Given the description of an element on the screen output the (x, y) to click on. 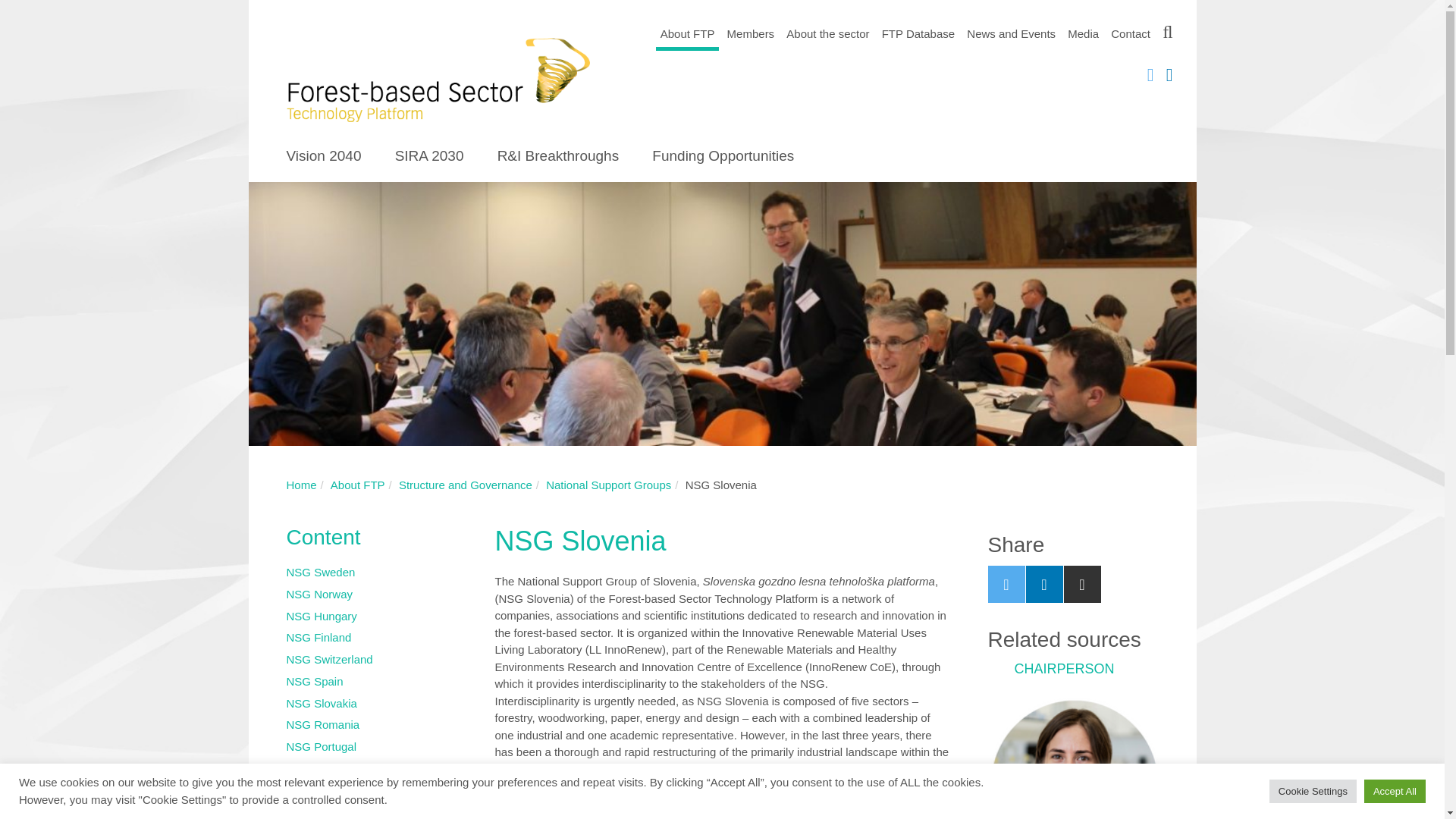
About FTP (687, 35)
FTP Database (918, 33)
Structure and Governance (465, 484)
Members (750, 33)
About FTP (357, 484)
About the sector (827, 33)
National Support Groups (608, 484)
